Given the description of an element on the screen output the (x, y) to click on. 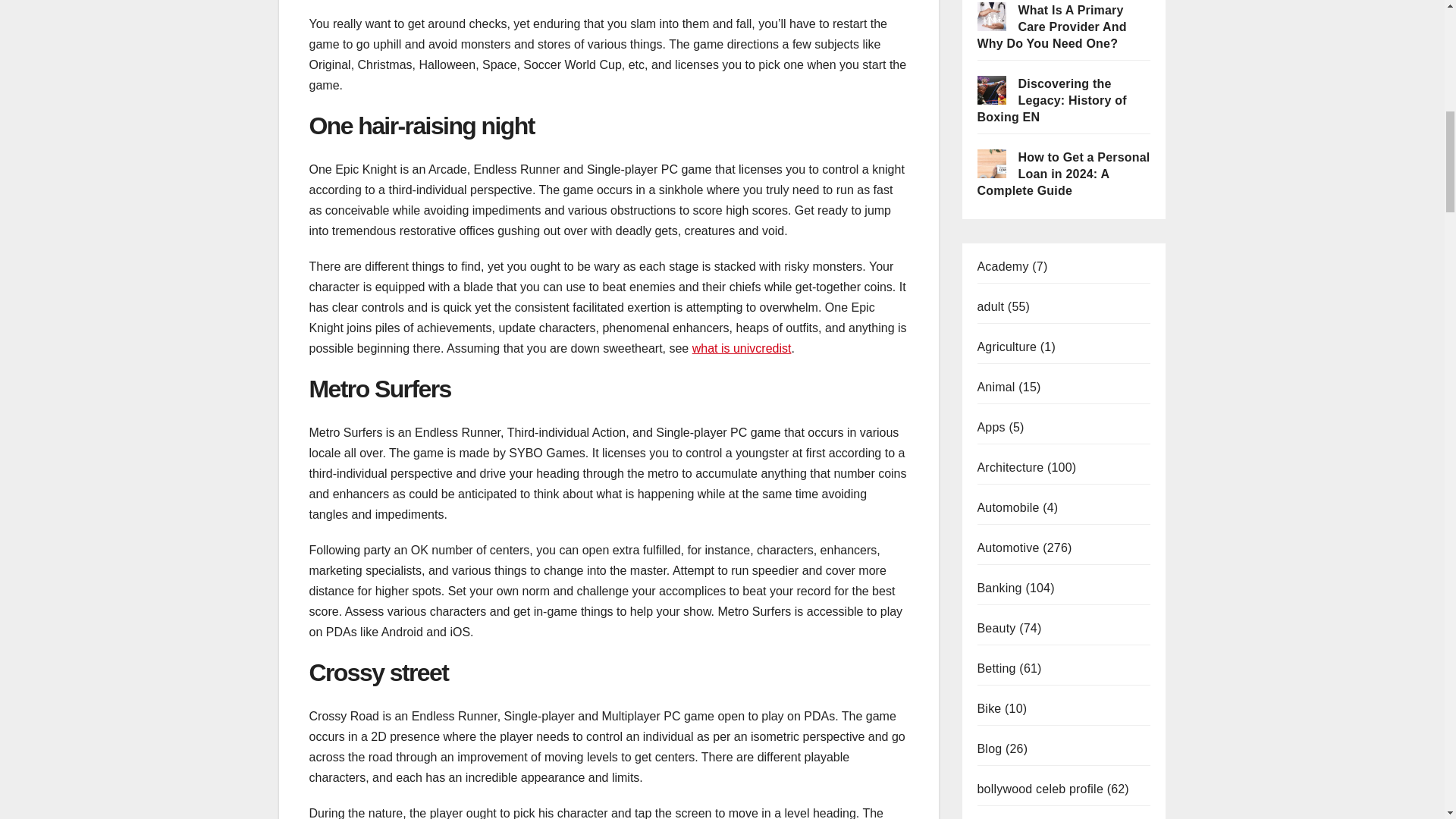
what is univcredist (742, 348)
